Given the description of an element on the screen output the (x, y) to click on. 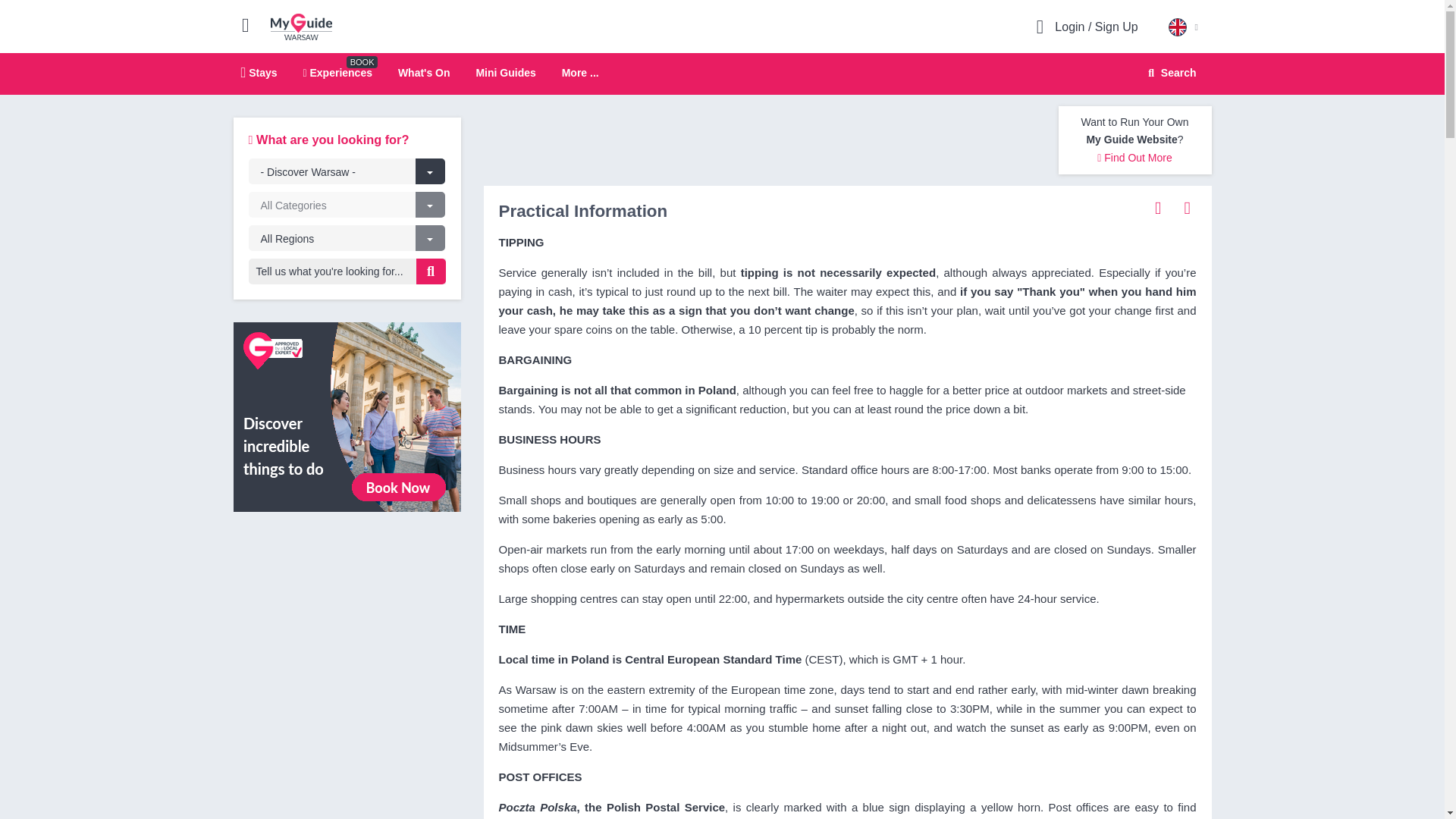
Search (721, 74)
Mini Guides (1169, 72)
View All Experiences (505, 72)
My Guide Warsaw (346, 415)
What's On (300, 25)
Search Website (423, 72)
Stays (1170, 73)
Share with Friends (259, 72)
Experiences (1157, 207)
More ... (337, 72)
